Given the description of an element on the screen output the (x, y) to click on. 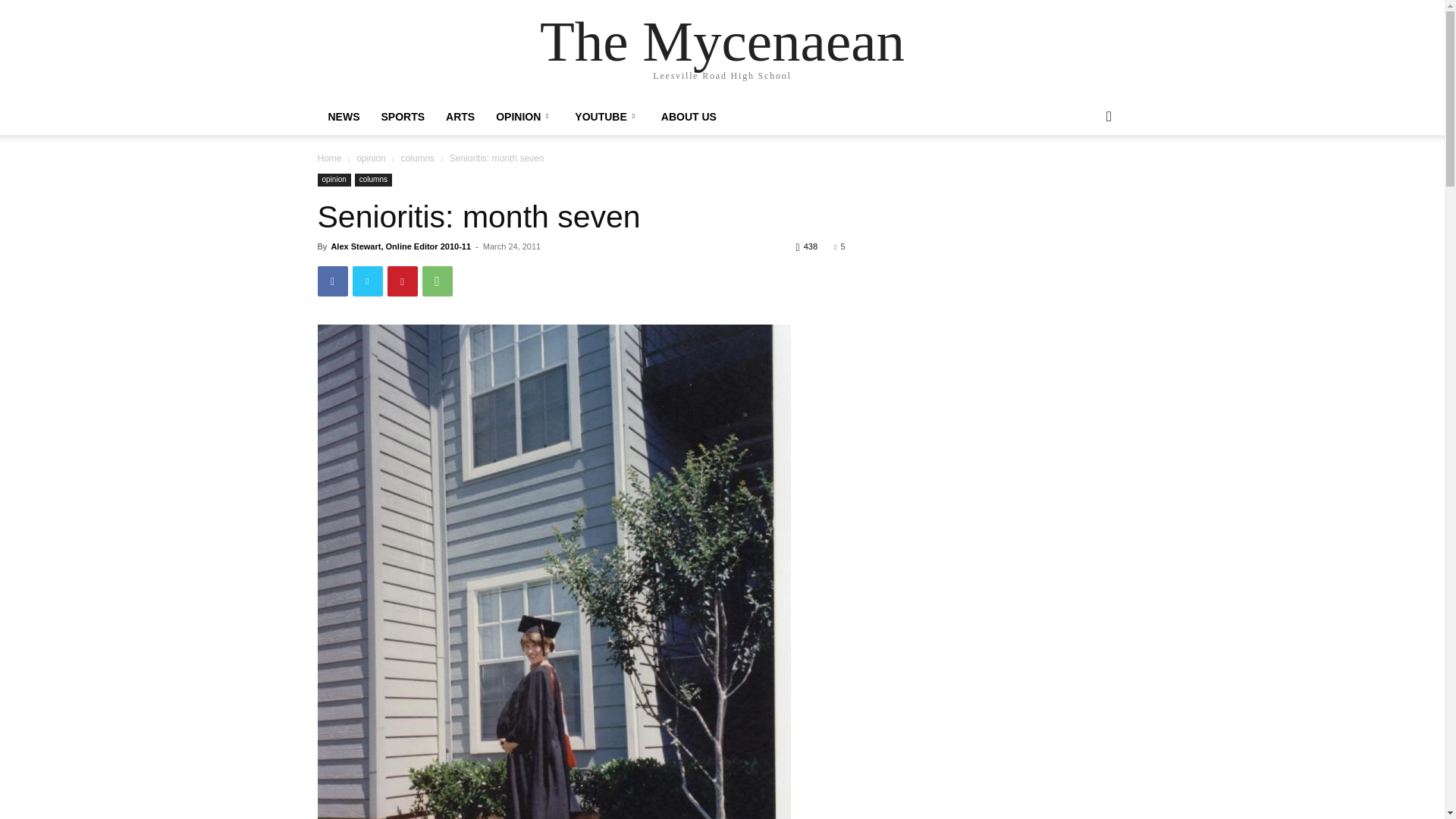
The Mycenaean (722, 41)
WhatsApp (436, 281)
Twitter (366, 281)
columns (416, 158)
View all posts in opinion (370, 158)
opinion (370, 158)
Search (1085, 177)
OPINION (524, 116)
Pinterest (401, 281)
Home (328, 158)
Facebook (332, 281)
ARTS (459, 116)
SPORTS (402, 116)
View all posts in columns (416, 158)
